Given the description of an element on the screen output the (x, y) to click on. 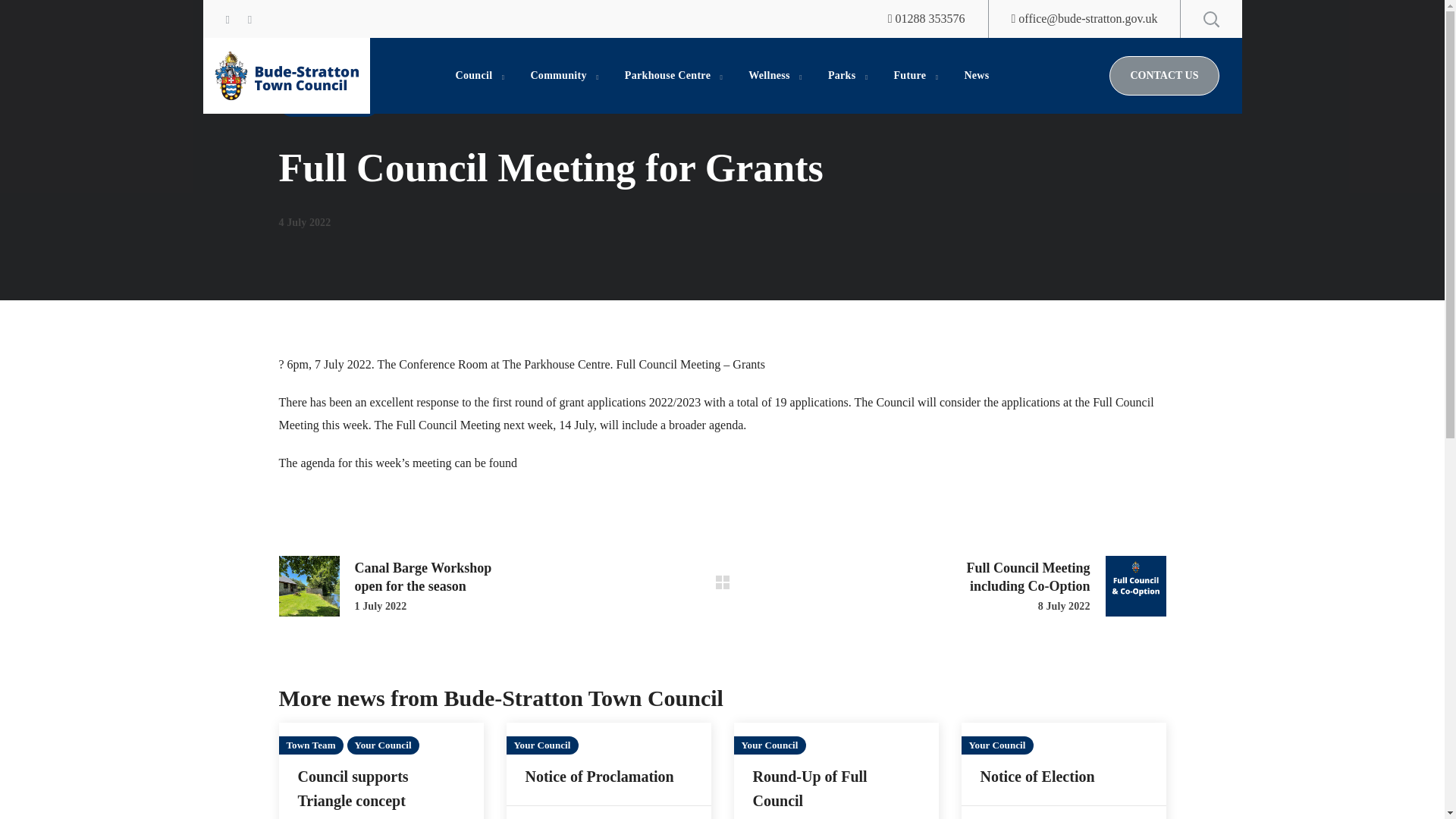
Canal Barge Workshop open for the season (396, 586)
Parkhouse Centre (673, 75)
Full Council Meeting including Co-Option (1048, 586)
Search (1172, 75)
Community (563, 75)
Council (478, 75)
